Given the description of an element on the screen output the (x, y) to click on. 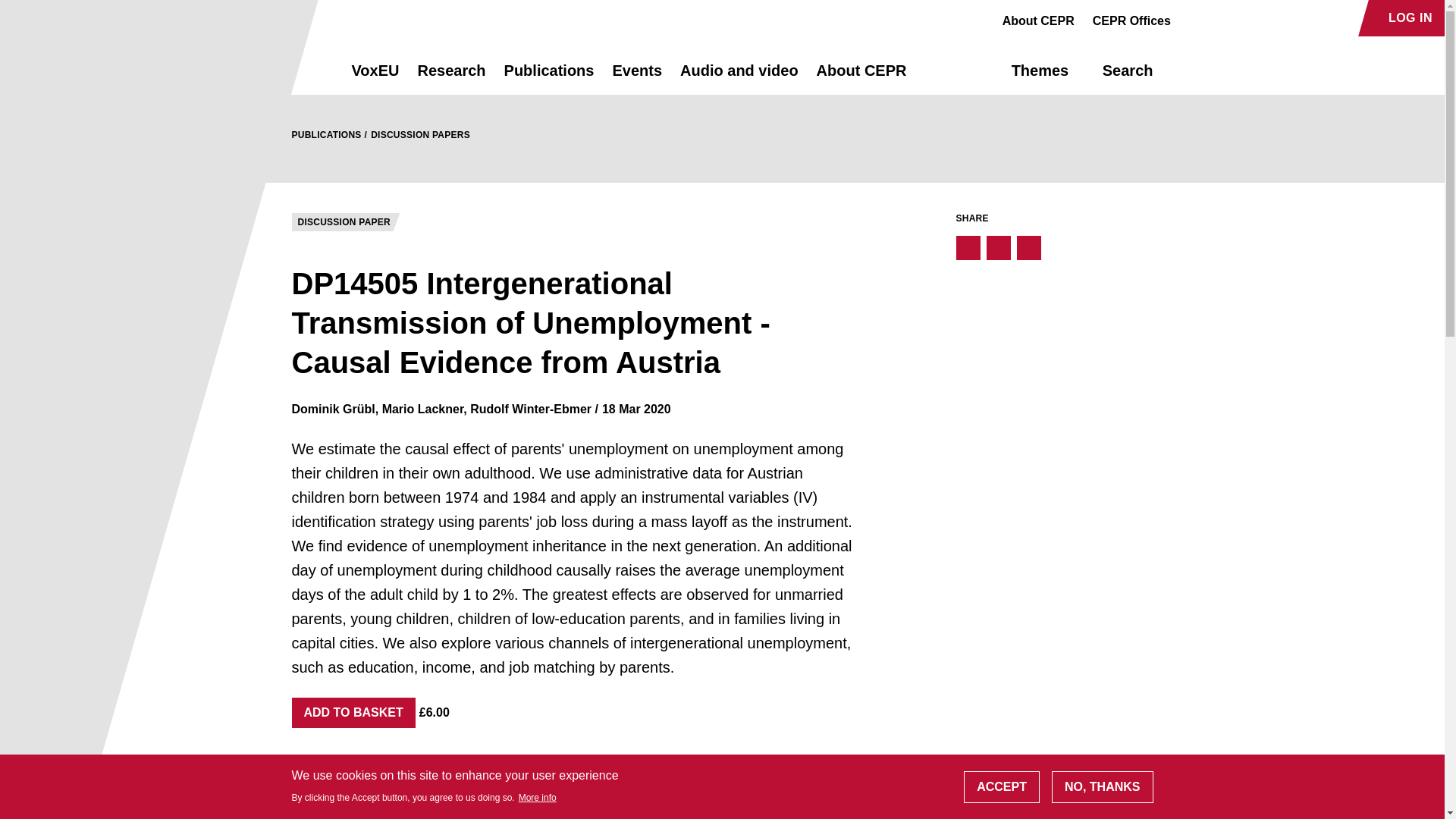
VoxEU (375, 77)
Audio and video (738, 77)
Go to Linkedin profile (1243, 18)
Publications (548, 77)
Return to the homepage (293, 69)
Go to Facebook profile (1190, 17)
Add to basket (352, 712)
Research (450, 77)
Go to Audioboom profile (1217, 17)
Events (636, 77)
